Given the description of an element on the screen output the (x, y) to click on. 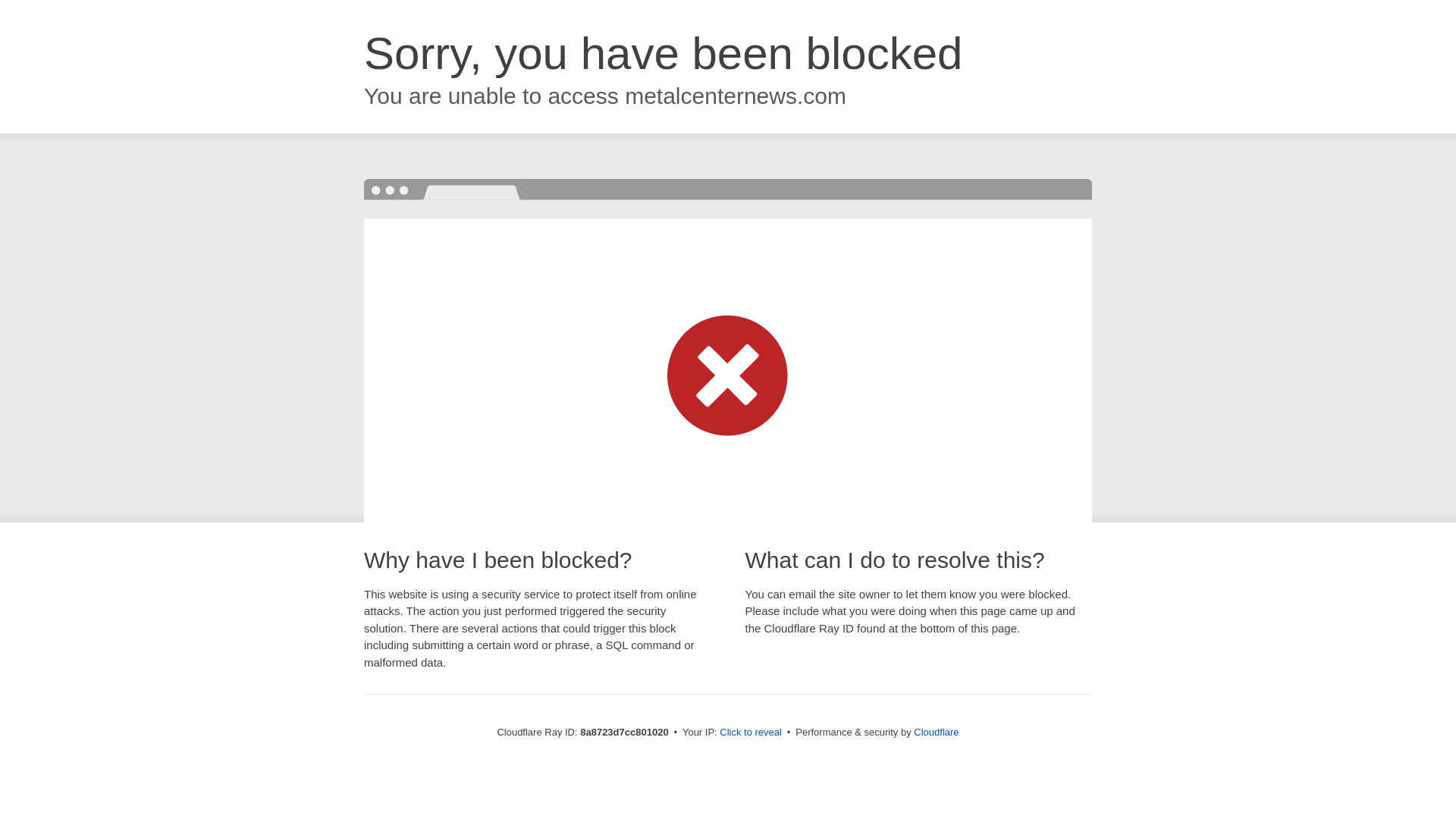
Click to reveal (750, 732)
Cloudflare (936, 731)
